Given the description of an element on the screen output the (x, y) to click on. 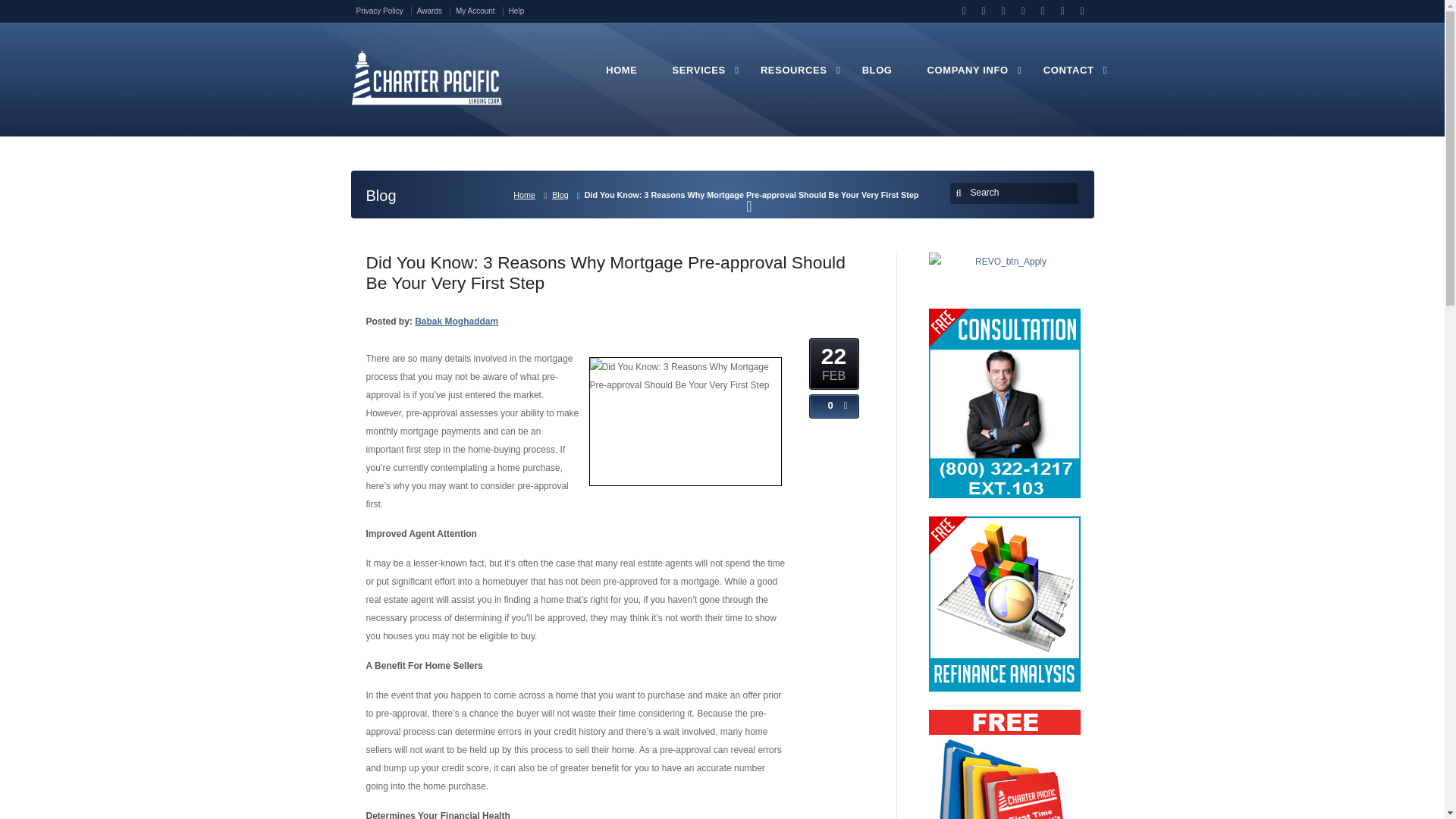
RESOURCES (793, 78)
Awards (432, 10)
Babak Moghaddam (455, 321)
Posts by Babak Moghaddam (455, 321)
COMPANY INFO (968, 78)
HOME (621, 78)
SERVICES (698, 78)
Help (516, 10)
